Given the description of an element on the screen output the (x, y) to click on. 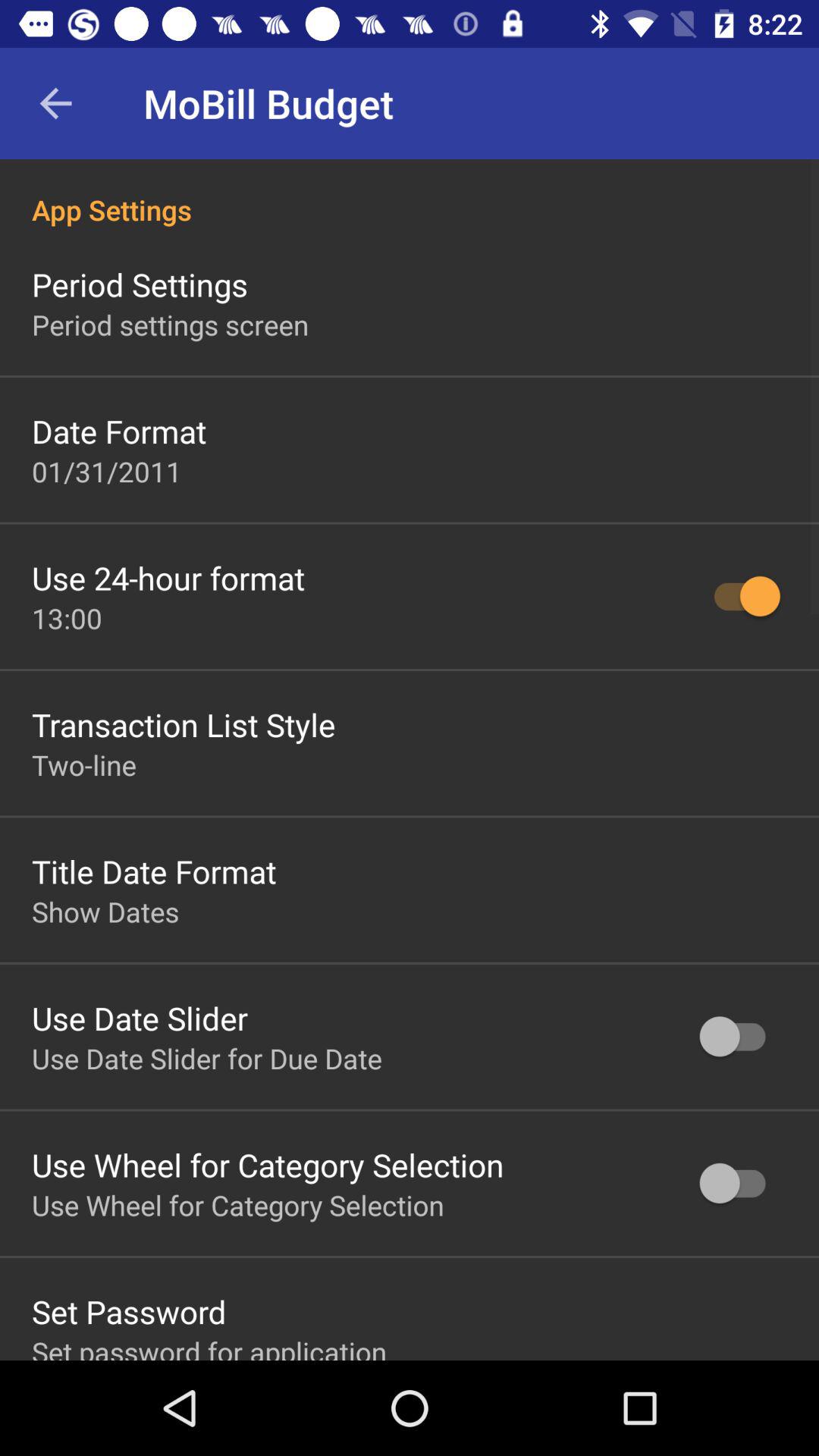
turn on the app below the 13:00 icon (183, 724)
